Given the description of an element on the screen output the (x, y) to click on. 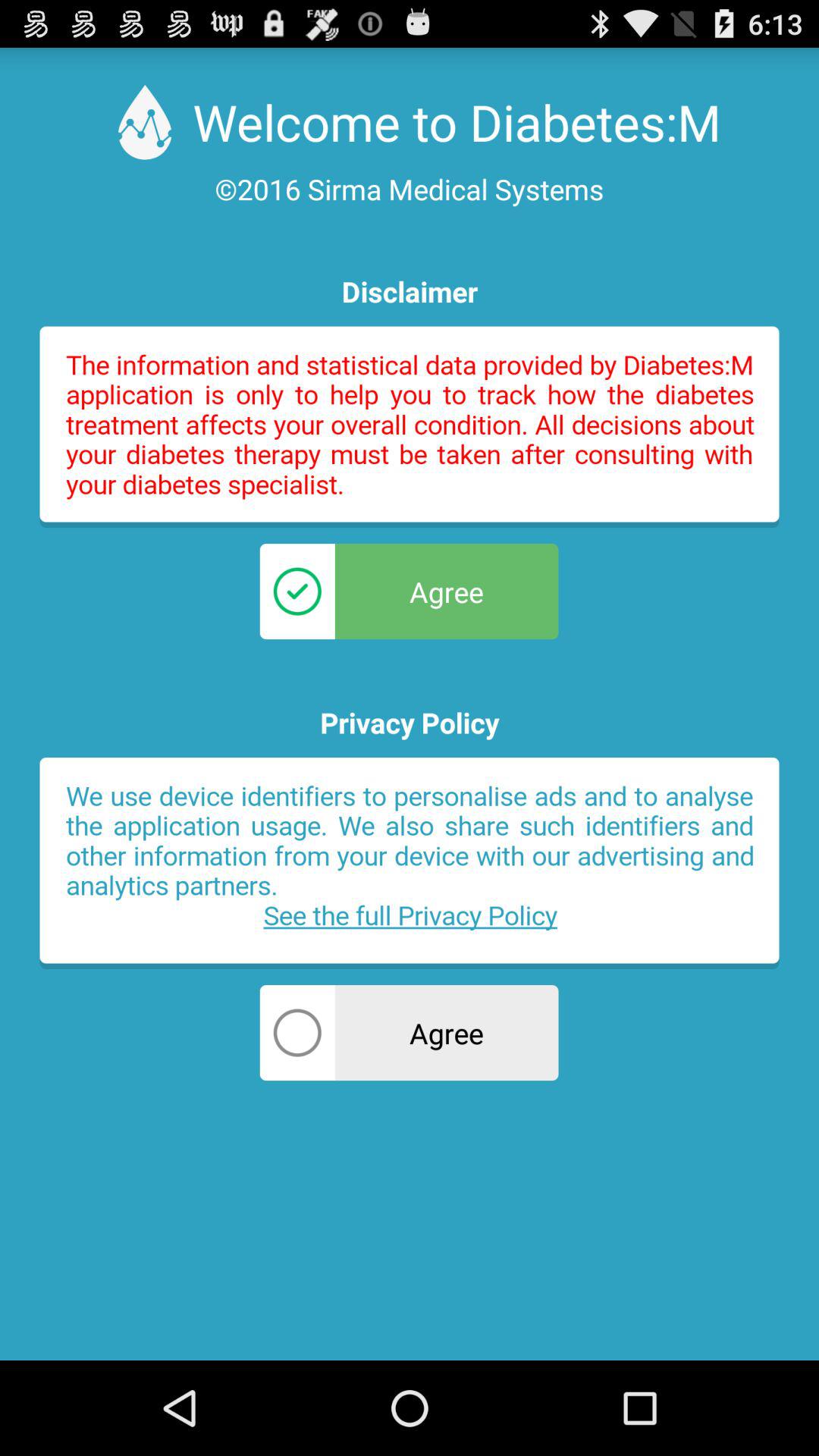
view privacy policy (409, 862)
